Given the description of an element on the screen output the (x, y) to click on. 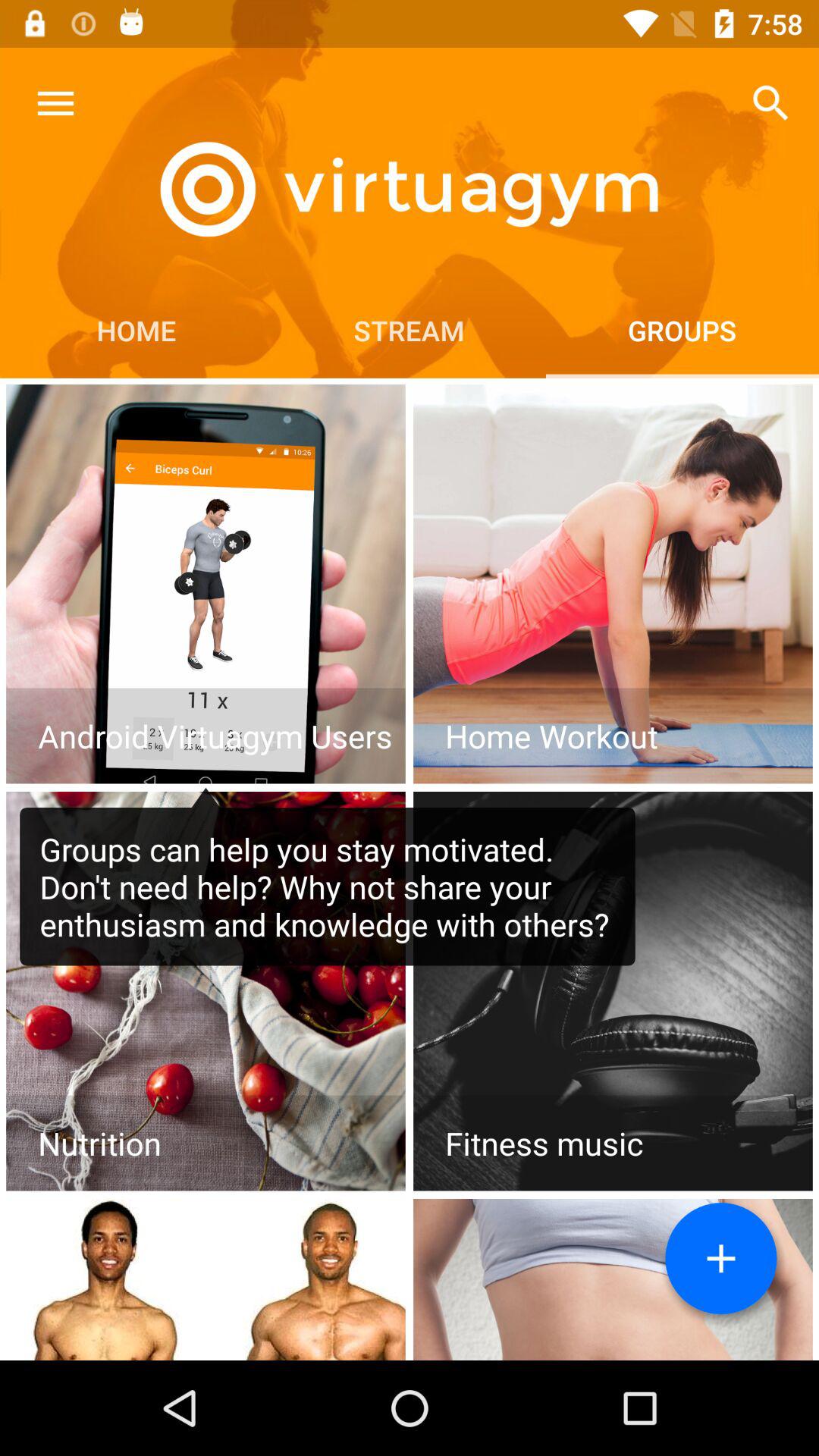
select the item below fitness music item (721, 1258)
